Given the description of an element on the screen output the (x, y) to click on. 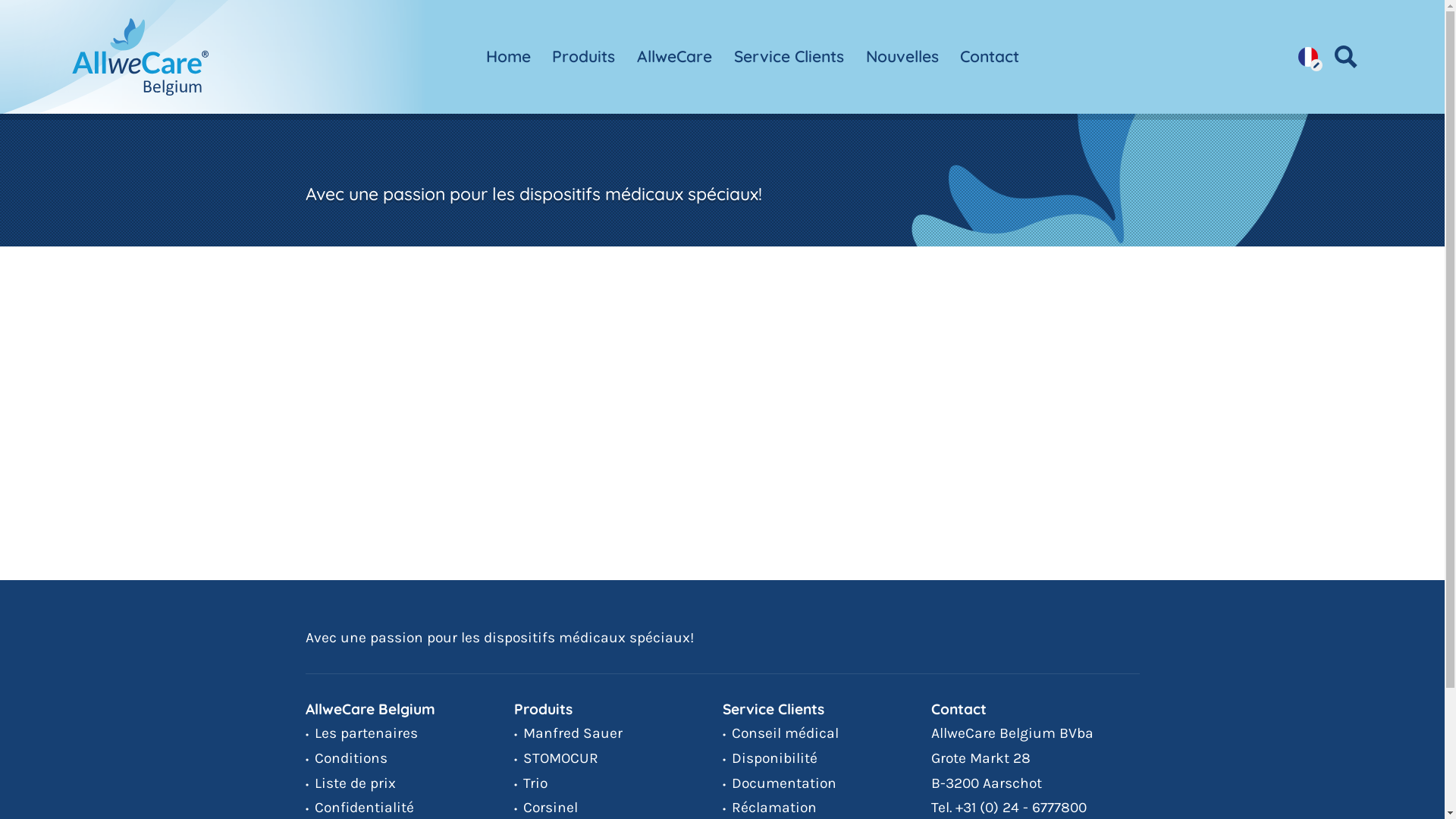
Tel. +31 (0) 24 - 6777800 Element type: text (1008, 806)
AllweCare Element type: text (674, 56)
Manfred Sauer Element type: text (568, 732)
Documentation Element type: text (778, 782)
Contact Element type: text (989, 56)
Liste de prix Element type: text (349, 782)
Les partenaires Element type: text (360, 732)
STOMOCUR Element type: text (556, 757)
Conditions Element type: text (345, 757)
Produits Element type: text (583, 56)
Home Element type: hover (140, 56)
Nouvelles Element type: text (902, 56)
Service Clients Element type: text (789, 56)
Home Element type: text (507, 56)
Trio Element type: text (530, 782)
Corsinel Element type: text (545, 806)
